Given the description of an element on the screen output the (x, y) to click on. 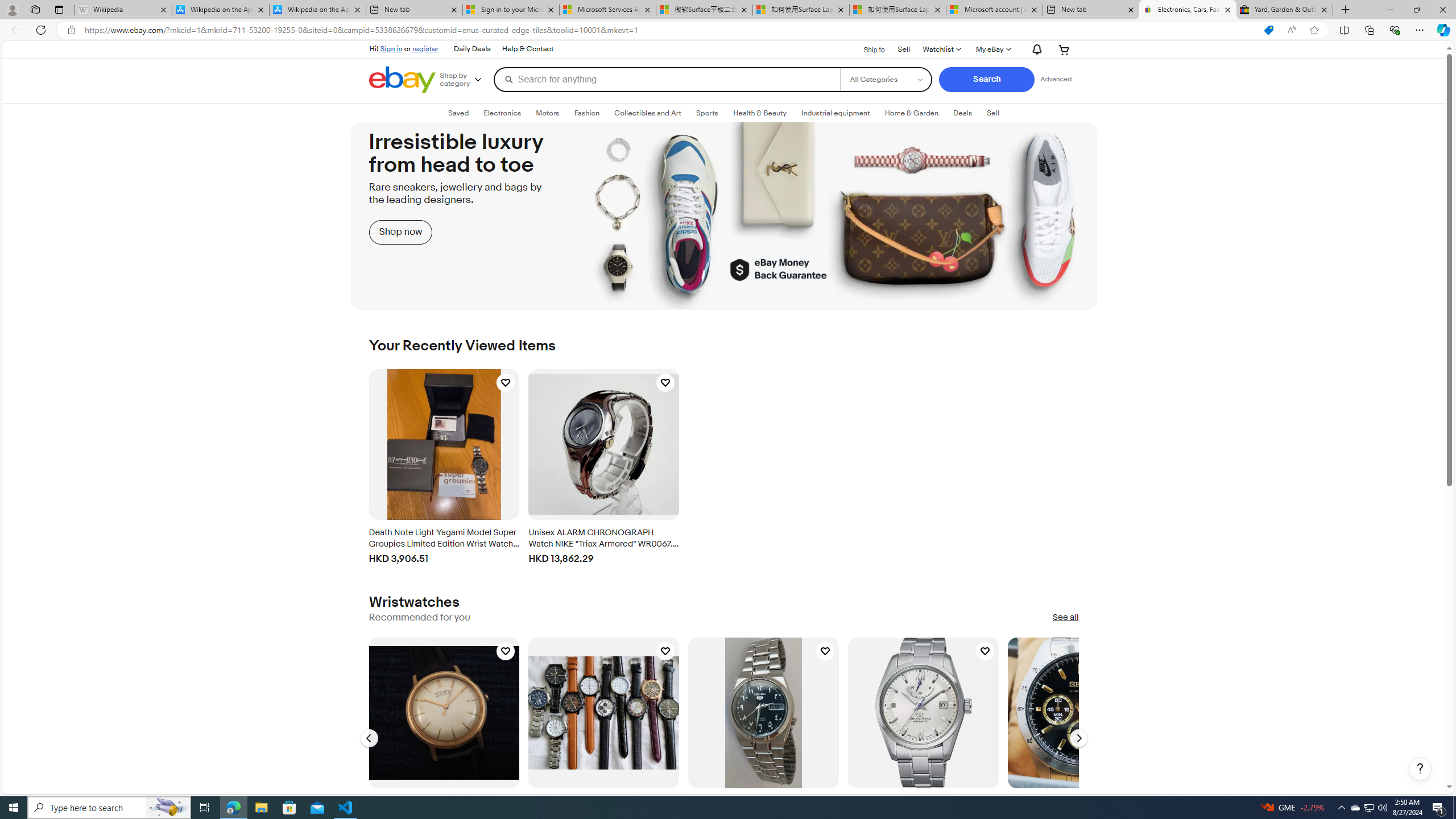
Ship to (866, 48)
SportsExpand: Sports (707, 112)
AutomationID: gh-eb-Alerts (1035, 49)
Home & GardenExpand: Home & Garden (911, 112)
Sign in to your Microsoft account (510, 9)
Home & Garden (911, 112)
Help & Contact (527, 49)
Fashion (586, 112)
My eBay (992, 49)
eBay Home (401, 79)
